Given the description of an element on the screen output the (x, y) to click on. 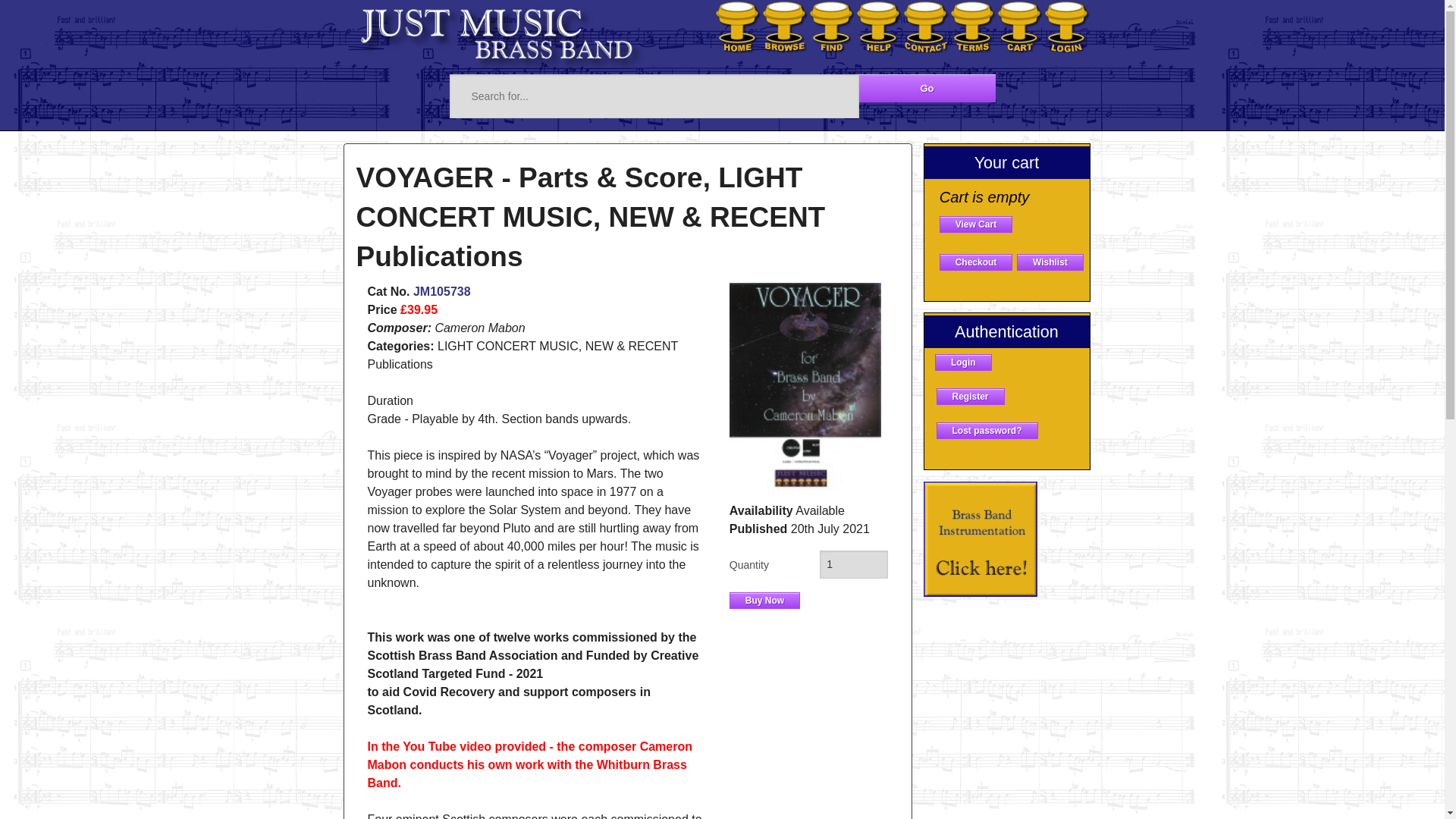
Go (926, 88)
Checkout (976, 262)
Login (962, 362)
Lost password? (986, 430)
Register (970, 396)
Buy Now (764, 600)
View Cart (975, 224)
Login (962, 362)
Checkout (976, 262)
Buy Now (764, 600)
Lost password? (986, 430)
1 (852, 564)
Wishlist (1049, 262)
Shopping Cart (975, 224)
Wishlist (1049, 262)
